Given the description of an element on the screen output the (x, y) to click on. 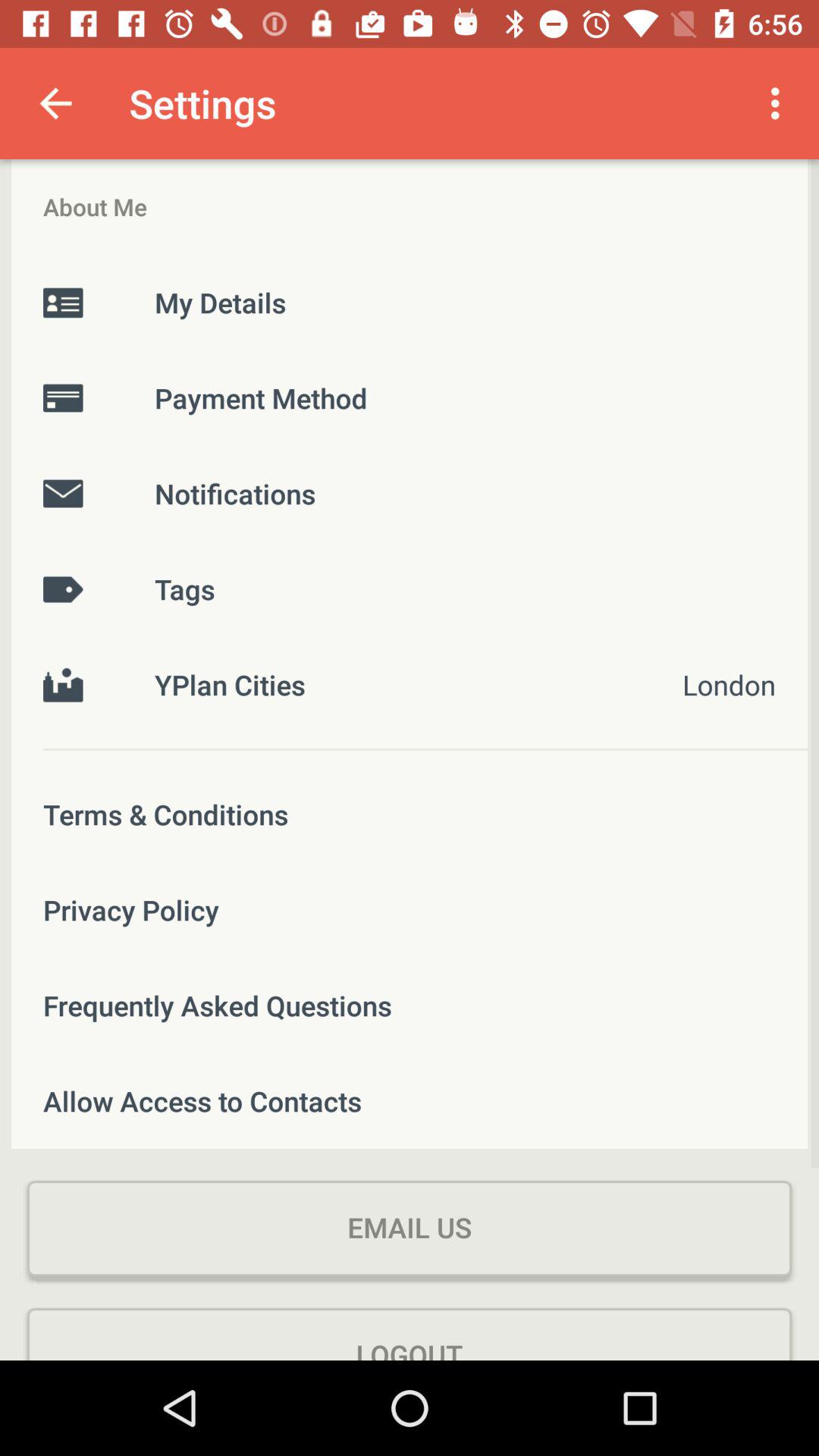
turn on app next to  settings icon (55, 103)
